Given the description of an element on the screen output the (x, y) to click on. 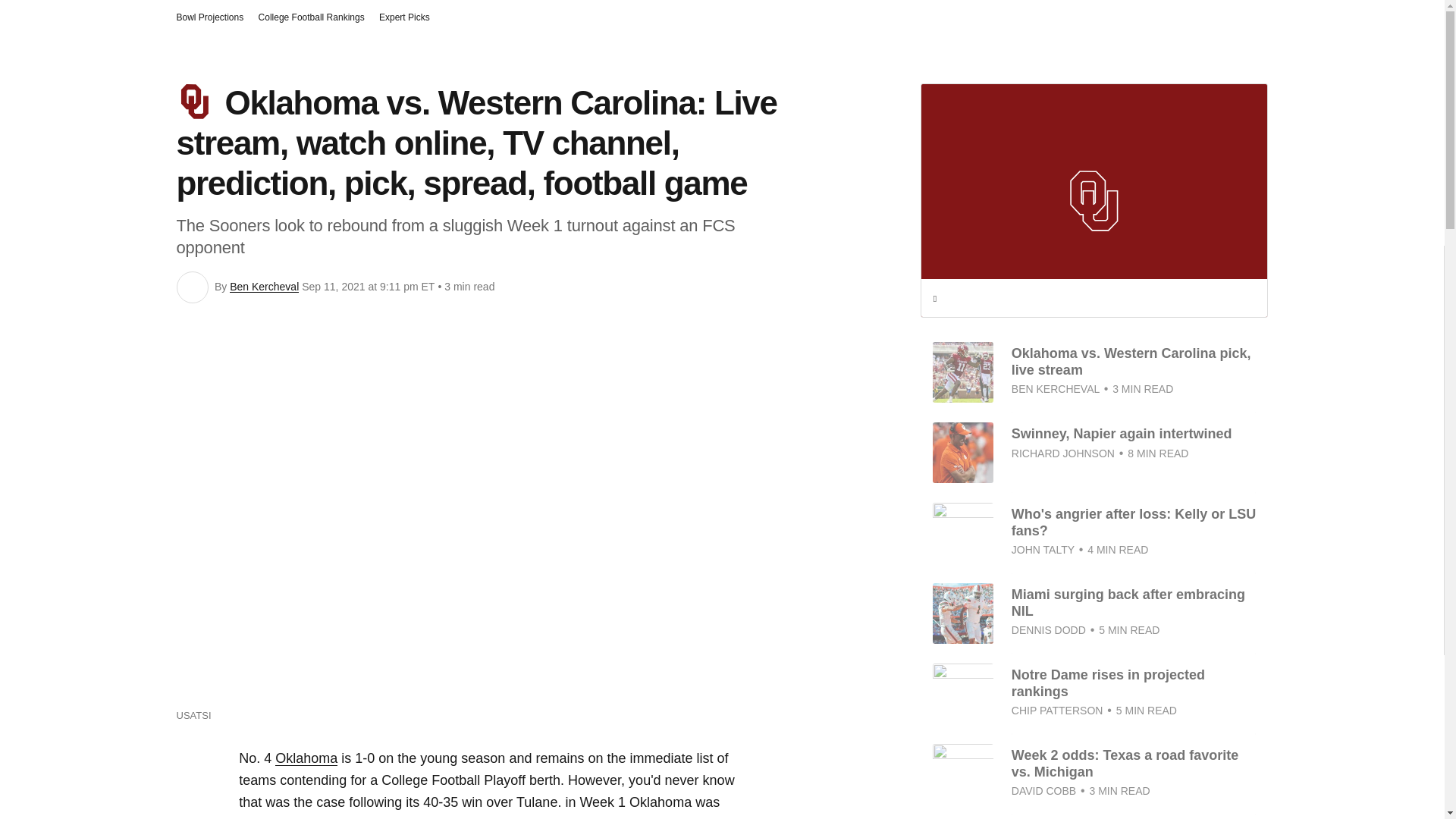
Bowl Projections (209, 17)
Ben Kercheval (264, 286)
Miami surging back after embracing NIL (1127, 603)
Notre Dame rises in projected rankings (1108, 683)
Week 2 odds: Texas a road favorite vs. Michigan (1125, 763)
Who's angrier after loss: Kelly or LSU fans? (1133, 522)
Expert Picks (403, 17)
College Football Rankings (312, 17)
Oklahoma (306, 758)
Swinney, Napier again intertwined (1121, 433)
